Given the description of an element on the screen output the (x, y) to click on. 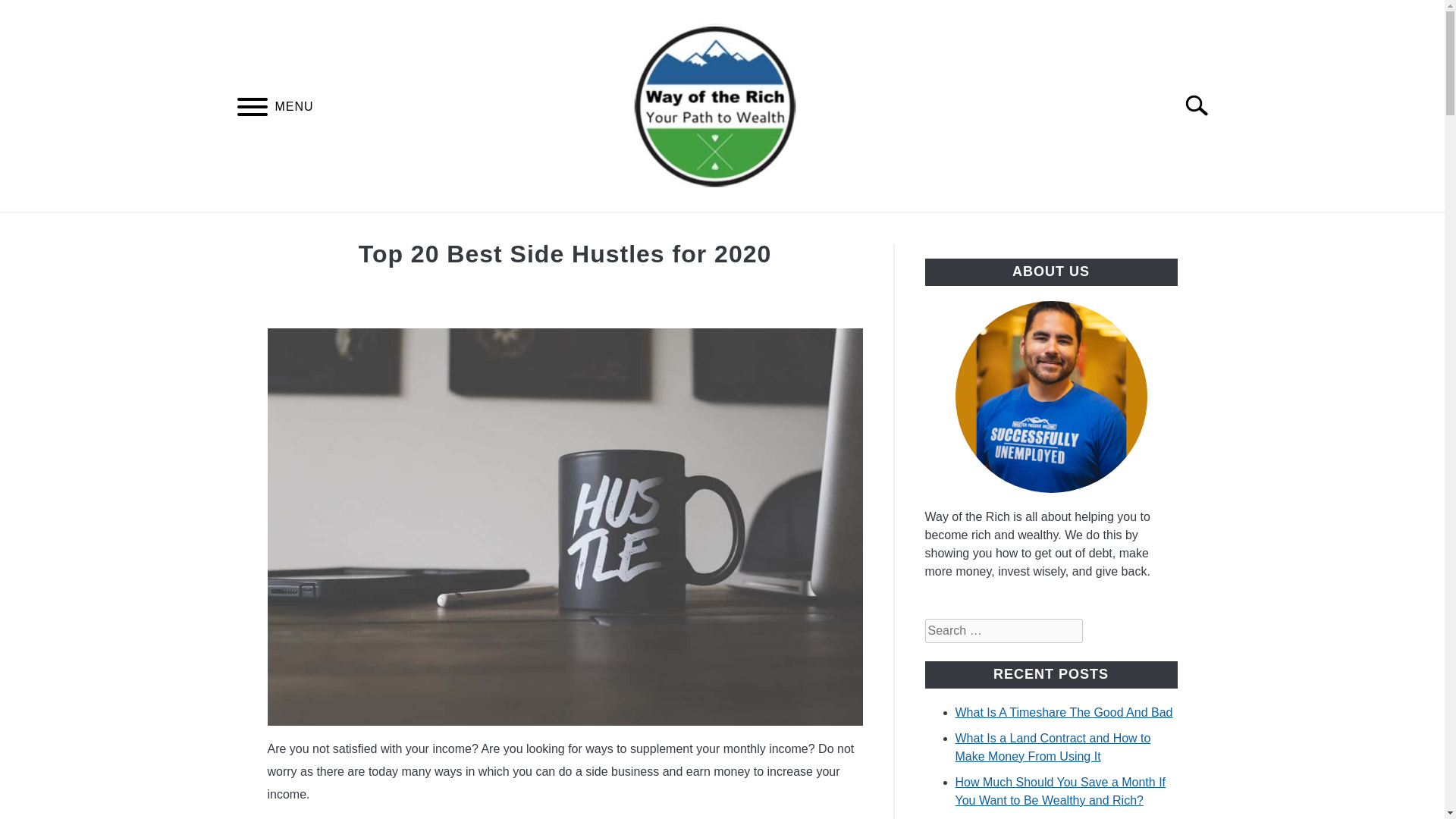
MENU (251, 109)
Search (1203, 104)
